Given the description of an element on the screen output the (x, y) to click on. 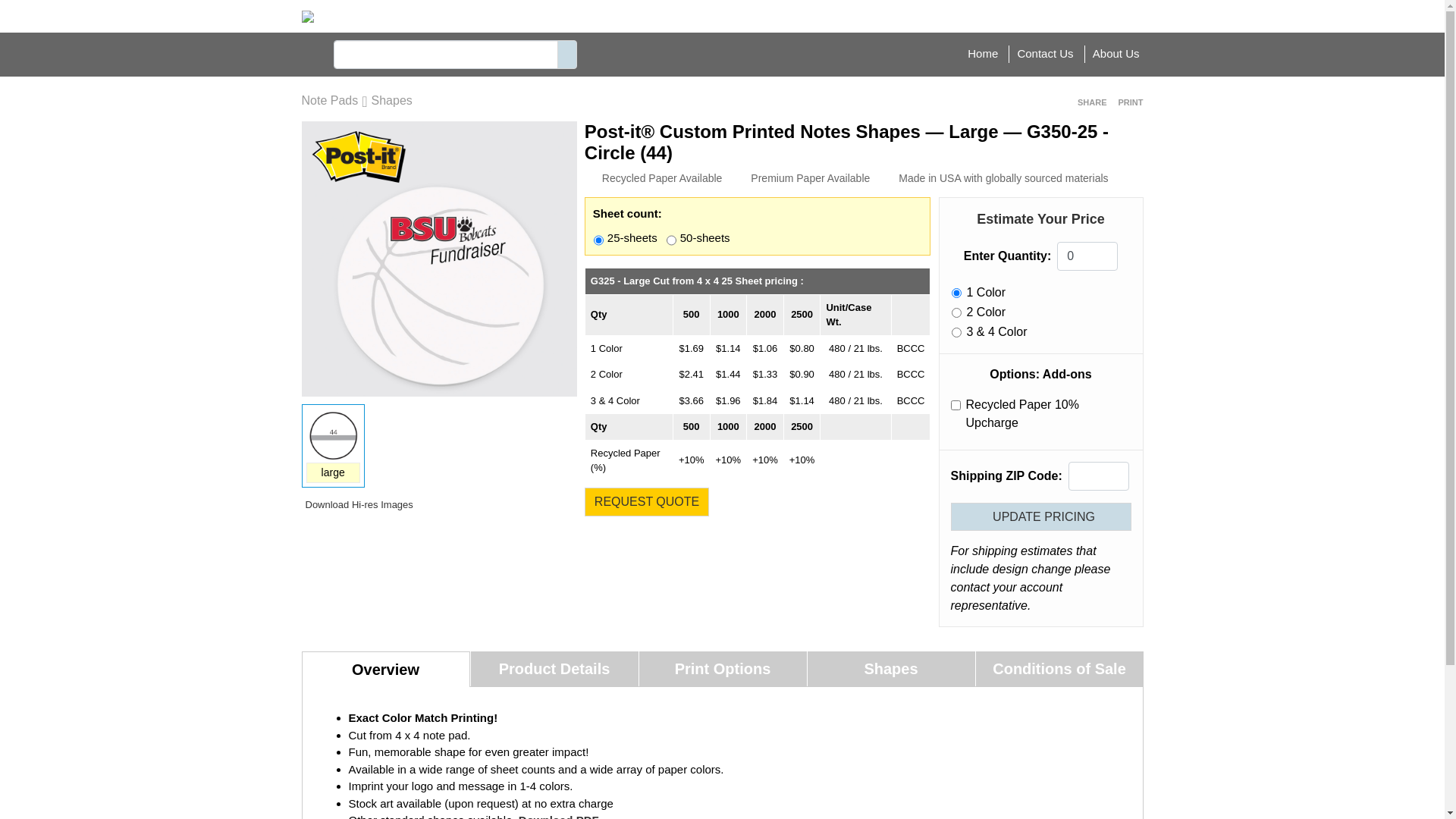
Product Details Element type: text (553, 668)
About Us Element type: text (1115, 53)
Shapes Element type: text (890, 668)
PRINT Element type: text (1128, 102)
large Element type: text (333, 472)
Home Element type: text (982, 53)
Conditions of Sale Element type: text (1058, 668)
Shapes Element type: text (391, 100)
REQUEST QUOTE Element type: text (646, 501)
Note Pads Element type: text (329, 100)
SHARE Element type: text (1090, 102)
Download Hi-res Images Element type: text (357, 504)
Overview Element type: text (385, 669)
UPDATE PRICING Element type: text (1040, 516)
Contact Us Element type: text (1044, 53)
Print Options Element type: text (722, 668)
